Given the description of an element on the screen output the (x, y) to click on. 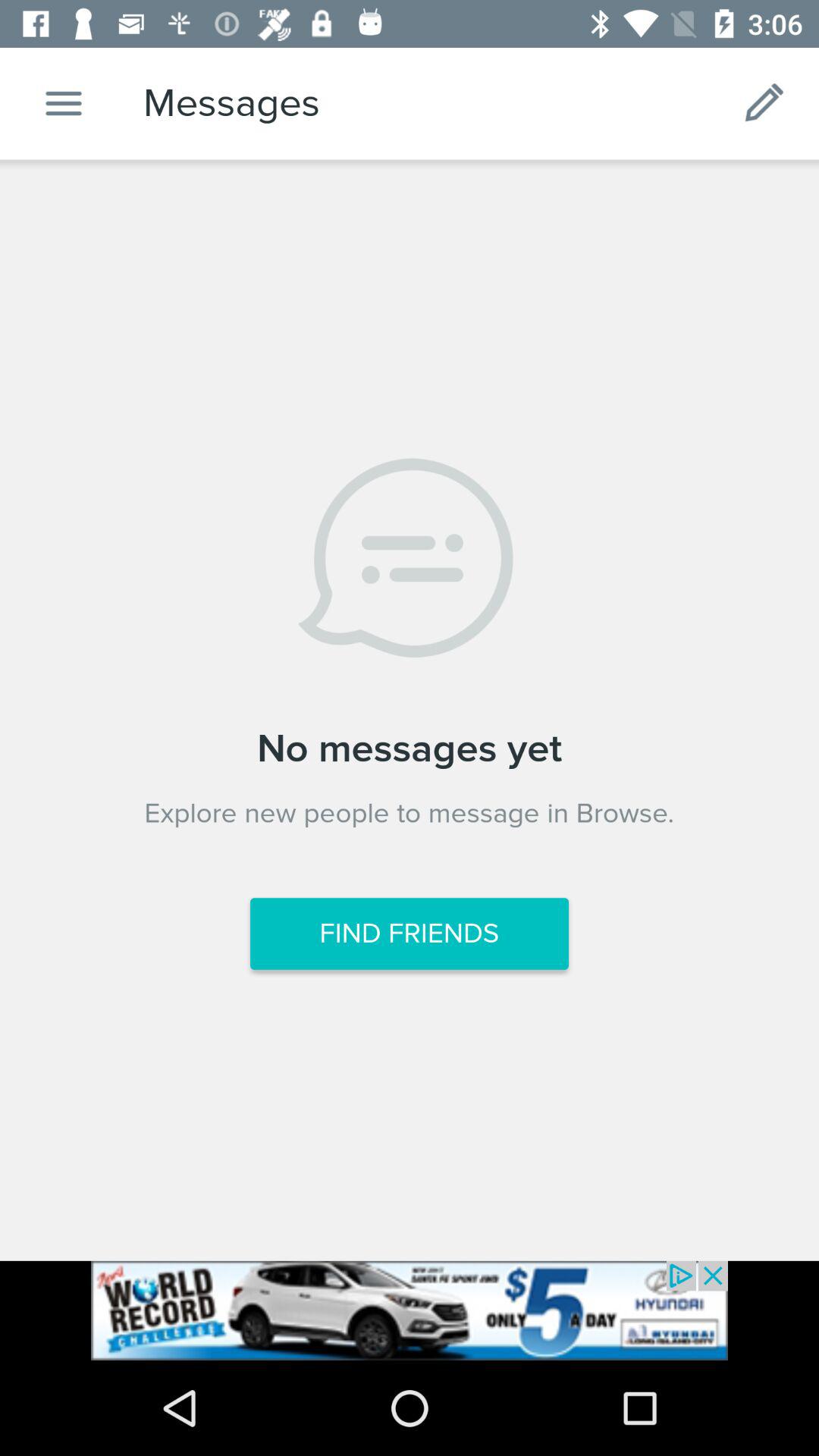
showing advertisements (409, 1310)
